Given the description of an element on the screen output the (x, y) to click on. 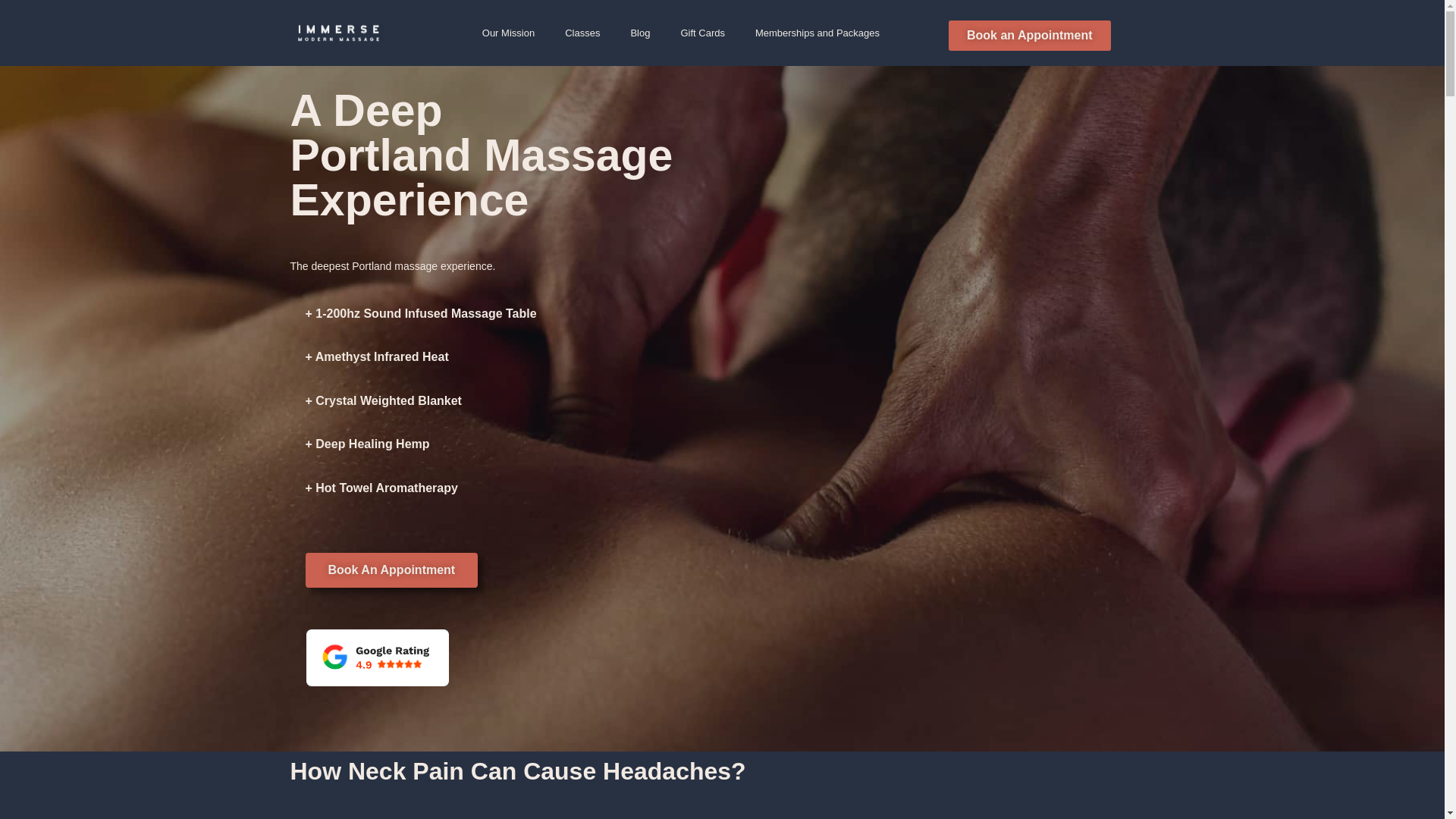
Blog (639, 32)
Our Mission (508, 32)
Classes (582, 32)
Memberships and Packages (817, 32)
Gift Cards (702, 32)
